Given the description of an element on the screen output the (x, y) to click on. 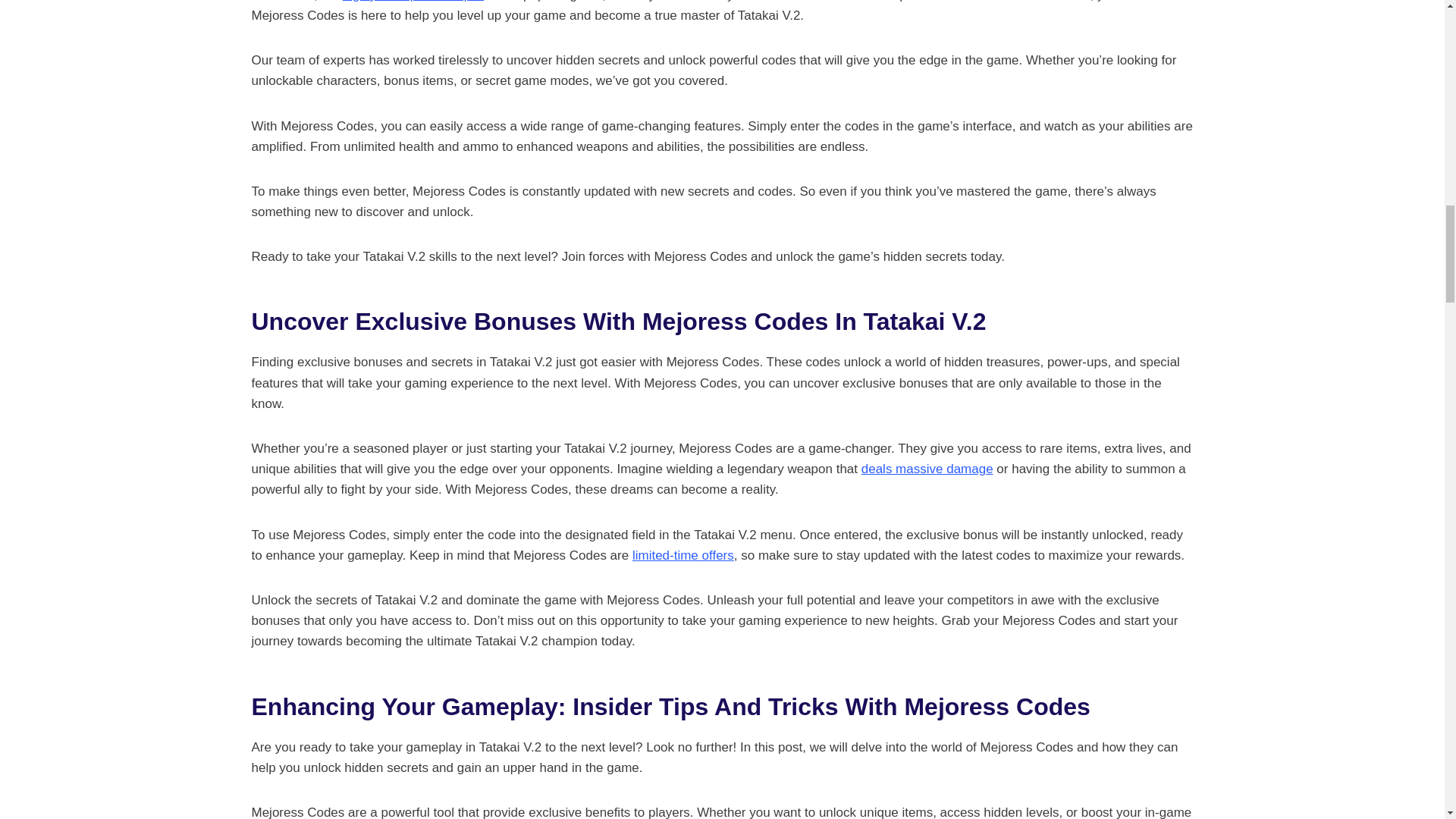
Murdle Today: Stay in the Loop with Daily Puzzling Updates (682, 554)
deals massive damage (926, 468)
Netmarble Magic: Navigating Seven Knights 2 Universe (926, 468)
limited-time offers (682, 554)
Cheng Chen's Challenge: Dive into Seven Knights 2 Cheng Chen (412, 1)
highly anticipated sequel (412, 1)
